Given the description of an element on the screen output the (x, y) to click on. 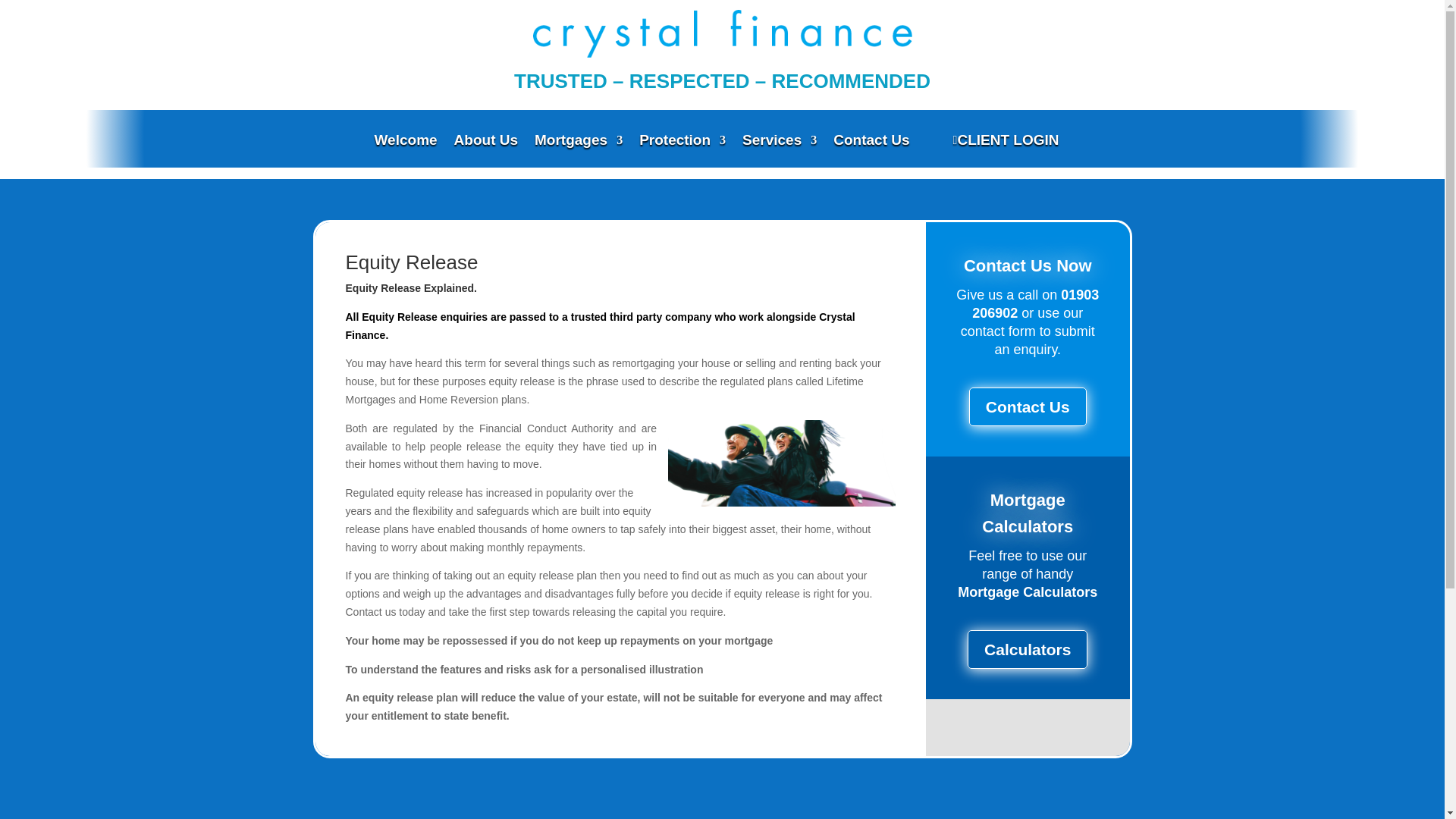
Protection (682, 151)
Mortgages (578, 151)
About Us (486, 151)
Welcome (406, 151)
Services (779, 151)
CLIENT LOGIN (998, 139)
Contact Us (870, 151)
